Given the description of an element on the screen output the (x, y) to click on. 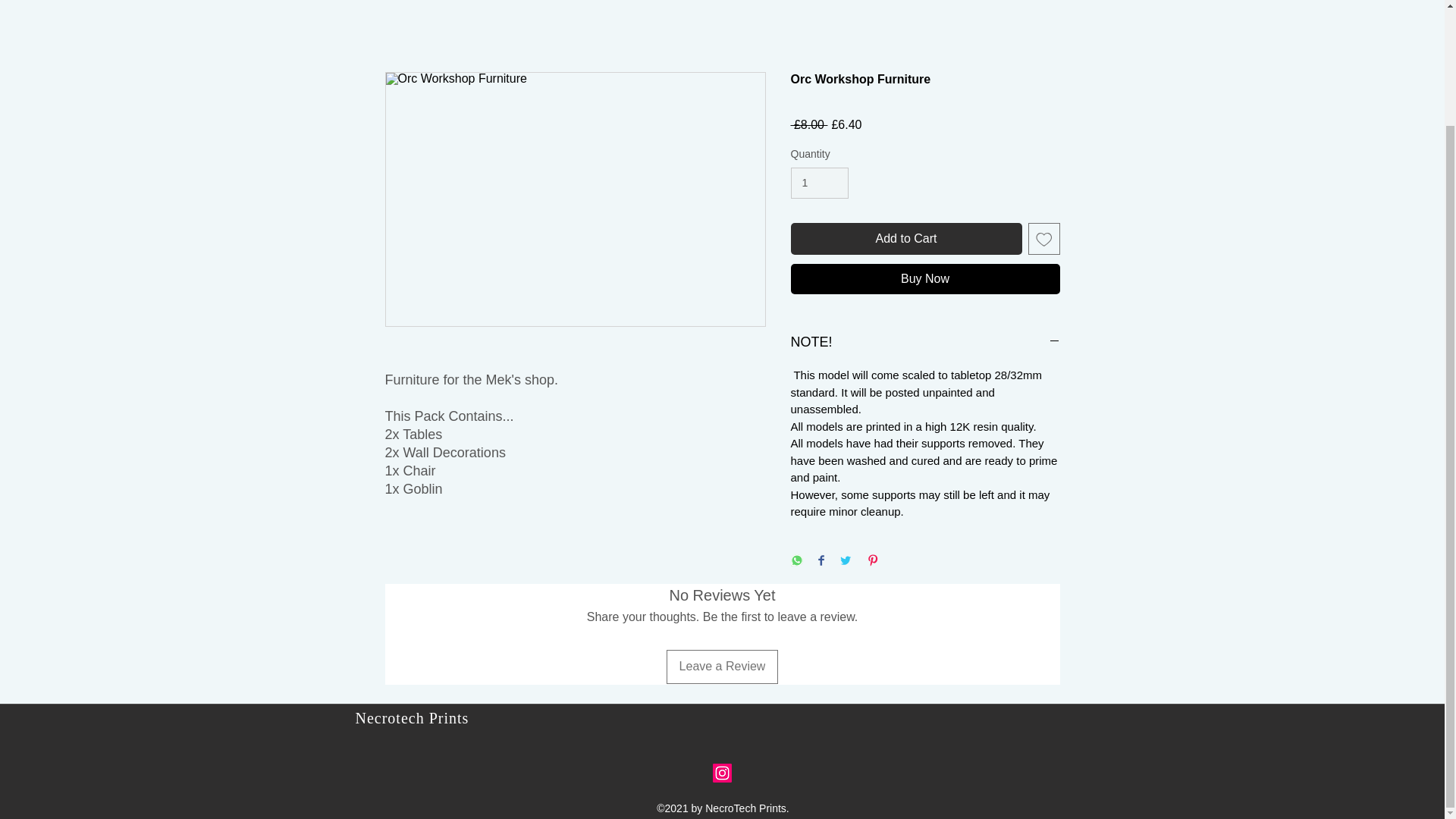
1 (818, 183)
